Given the description of an element on the screen output the (x, y) to click on. 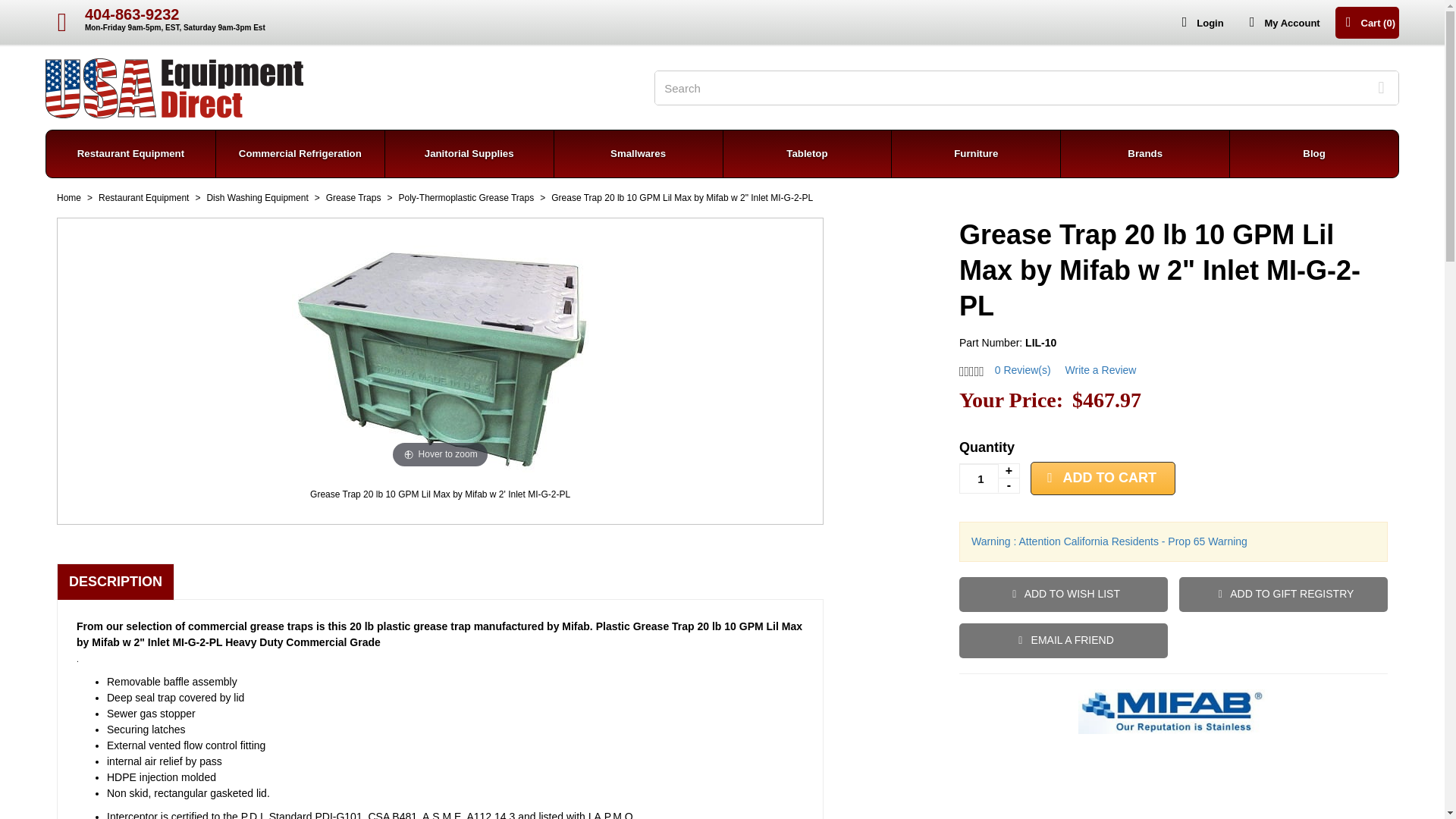
home (173, 87)
USA Equipment Direct (173, 87)
1 (989, 478)
Restaurant Equipment (130, 153)
Login (157, 22)
My Account (1198, 21)
SEARCH (1281, 21)
